Given the description of an element on the screen output the (x, y) to click on. 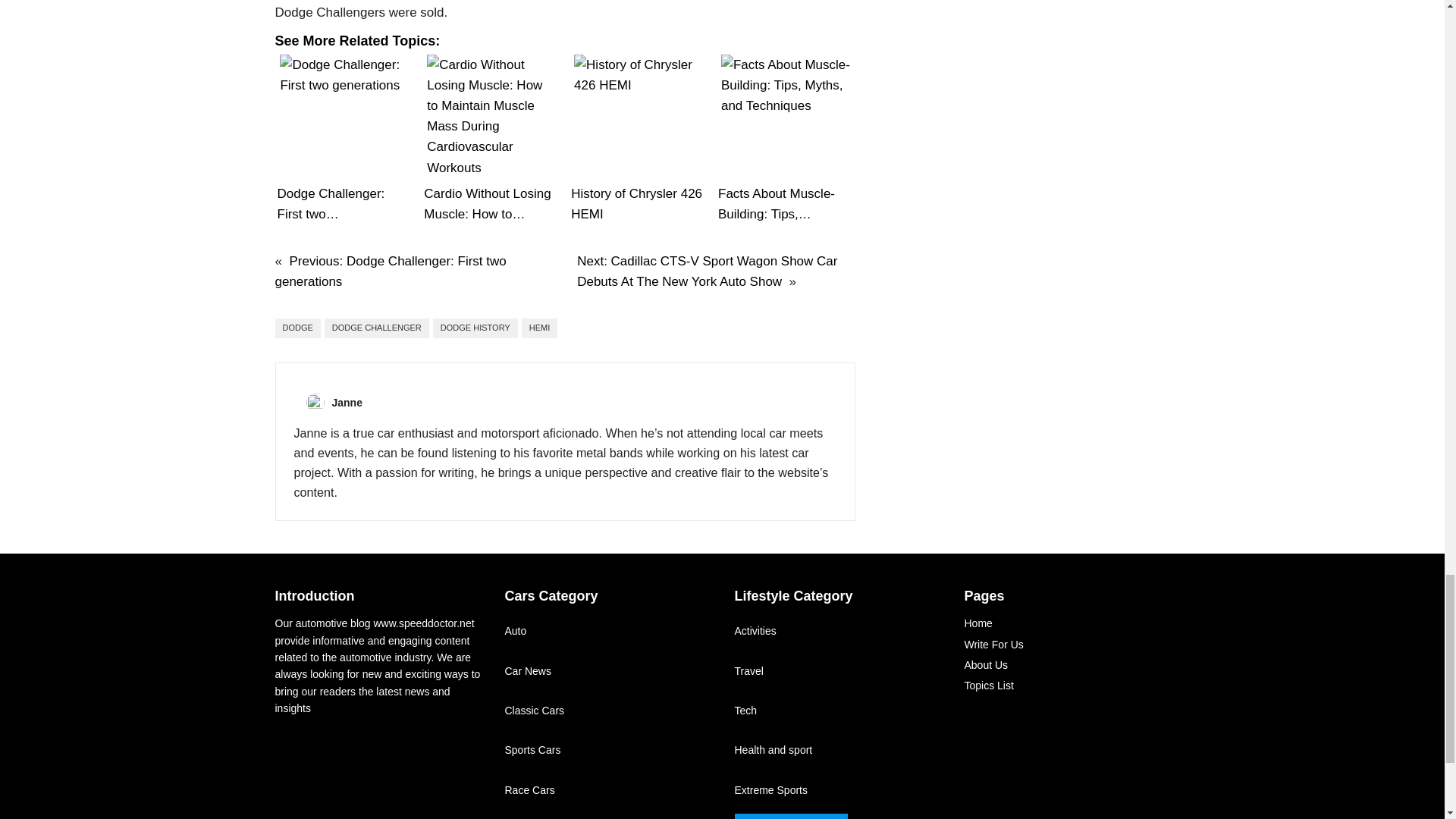
DODGE CHALLENGER (376, 328)
DODGE HISTORY (475, 328)
Facts About Muscle-Building: Tips, Myths, and Techniques (785, 118)
Previous: Dodge Challenger: First two generations (390, 271)
HEMI (539, 328)
History of Chrysler 426 HEMI (638, 118)
DODGE (297, 328)
Dodge Challenger: First two generations (344, 118)
